Given the description of an element on the screen output the (x, y) to click on. 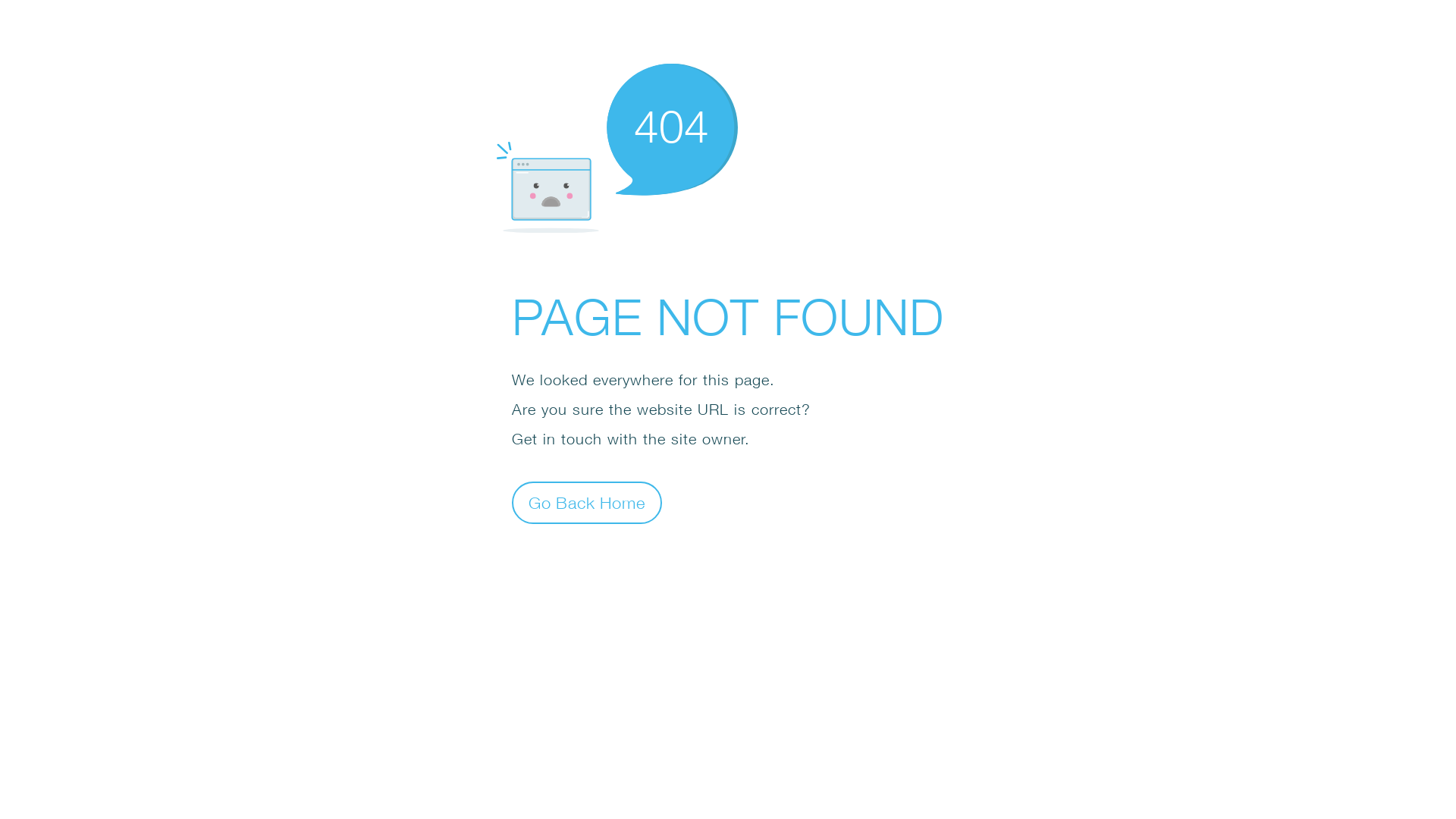
Go Back Home Element type: text (586, 502)
